Given the description of an element on the screen output the (x, y) to click on. 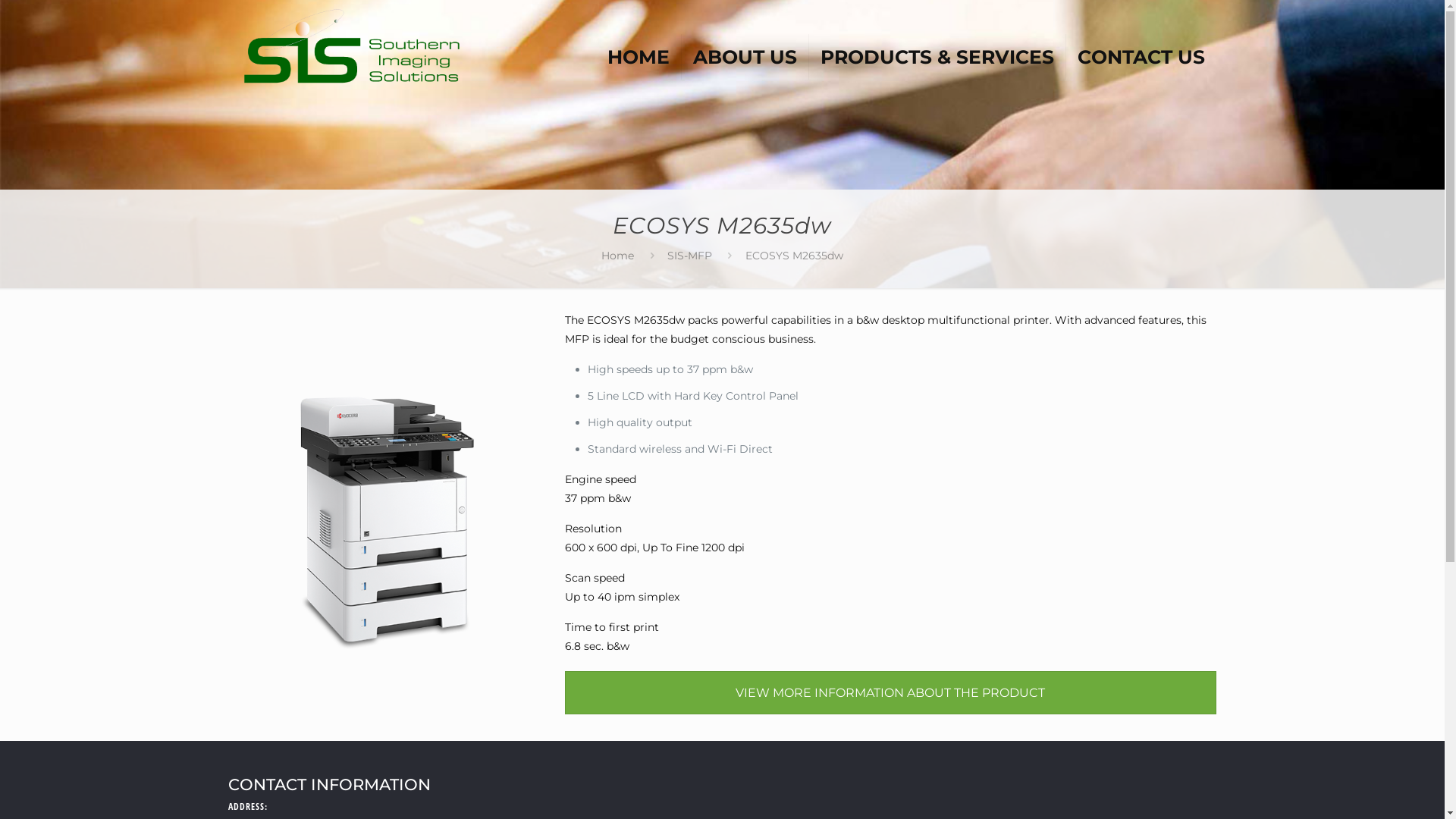
CONTACT US Element type: text (1141, 41)
PRODUCTS & SERVICES Element type: text (937, 41)
Southern Imaging Solutions Element type: hover (352, 45)
HOME Element type: text (638, 41)
ABOUT US Element type: text (745, 41)
Home Element type: text (617, 255)
VIEW MORE INFORMATION ABOUT THE PRODUCT Element type: text (890, 692)
SIS-MFP Element type: text (689, 255)
